Given the description of an element on the screen output the (x, y) to click on. 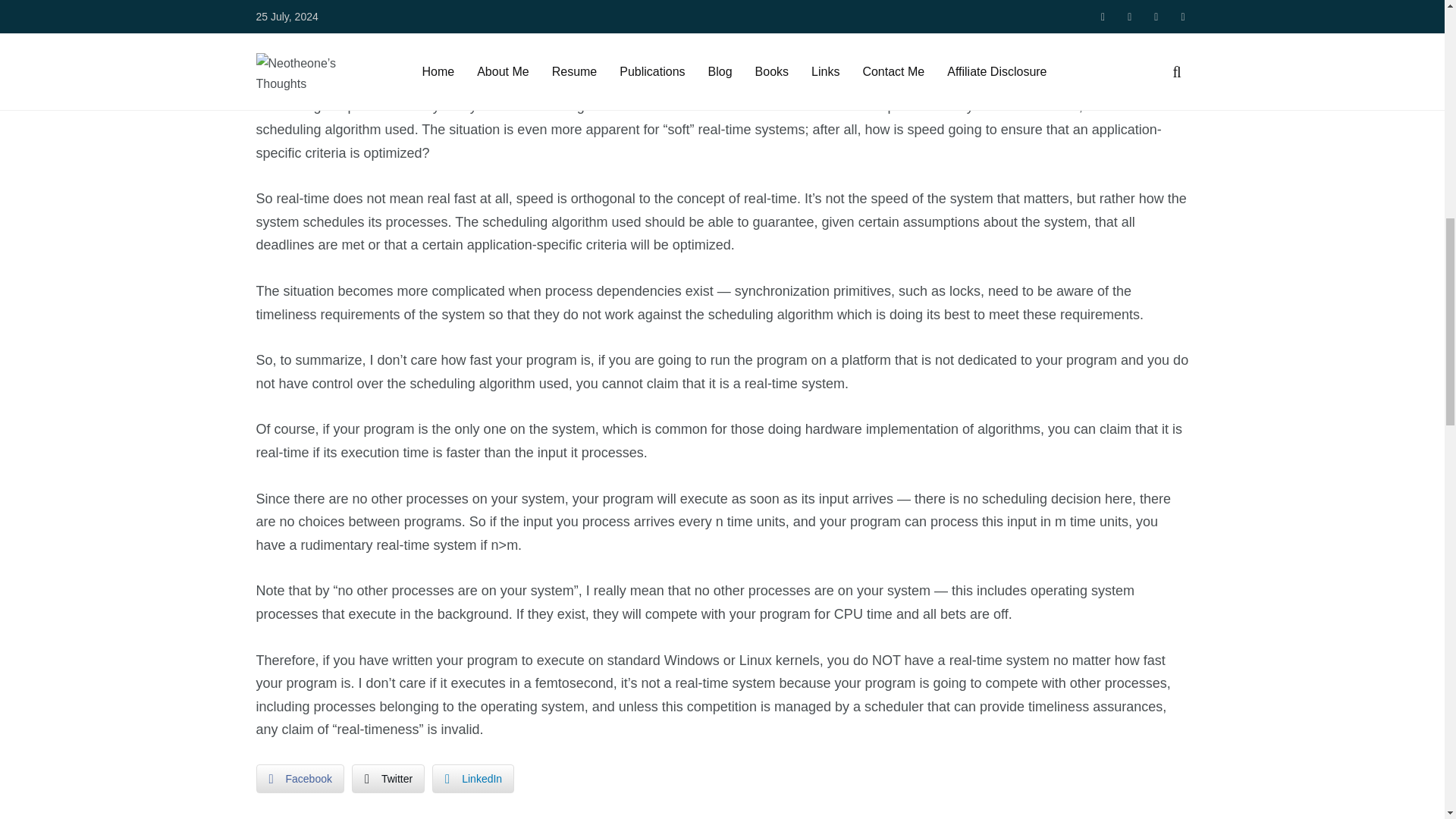
Facebook (299, 778)
Twitter (388, 778)
LinkedIn (472, 778)
